Given the description of an element on the screen output the (x, y) to click on. 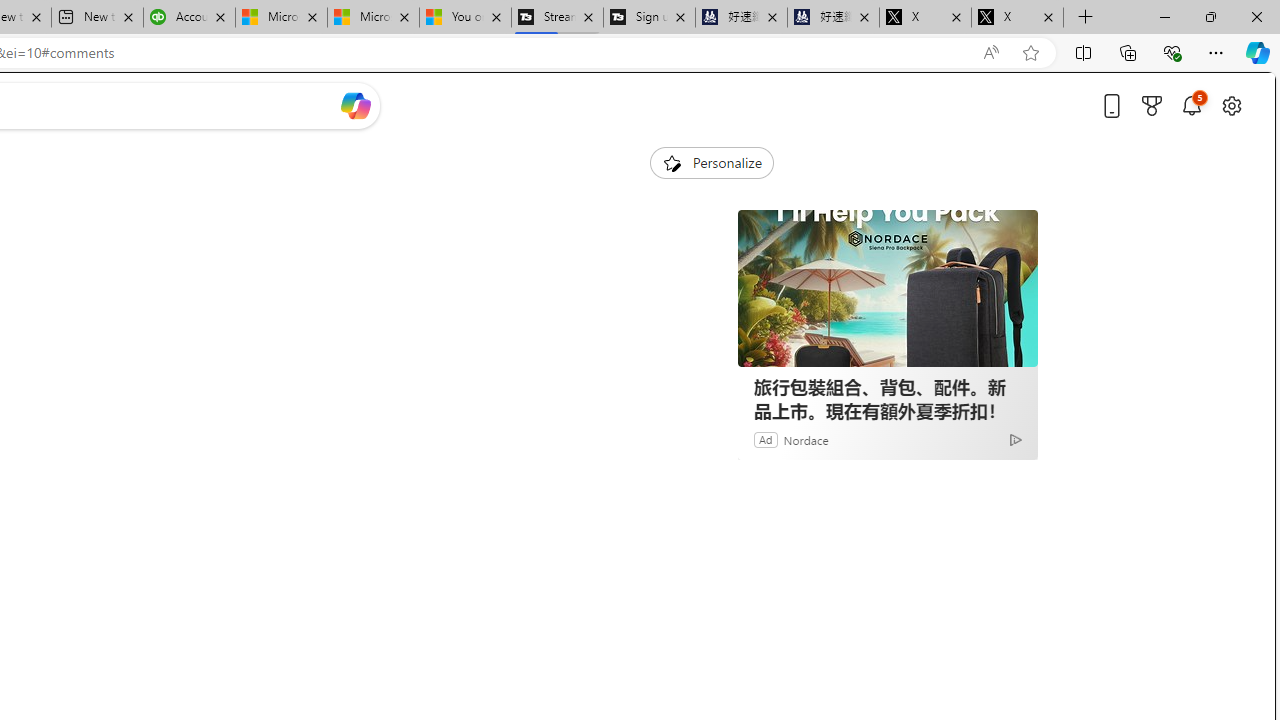
To get missing image descriptions, open the context menu. (671, 162)
Notifications (1192, 105)
Microsoft rewards (1151, 105)
Open Copilot (356, 105)
X (1017, 17)
